Given the description of an element on the screen output the (x, y) to click on. 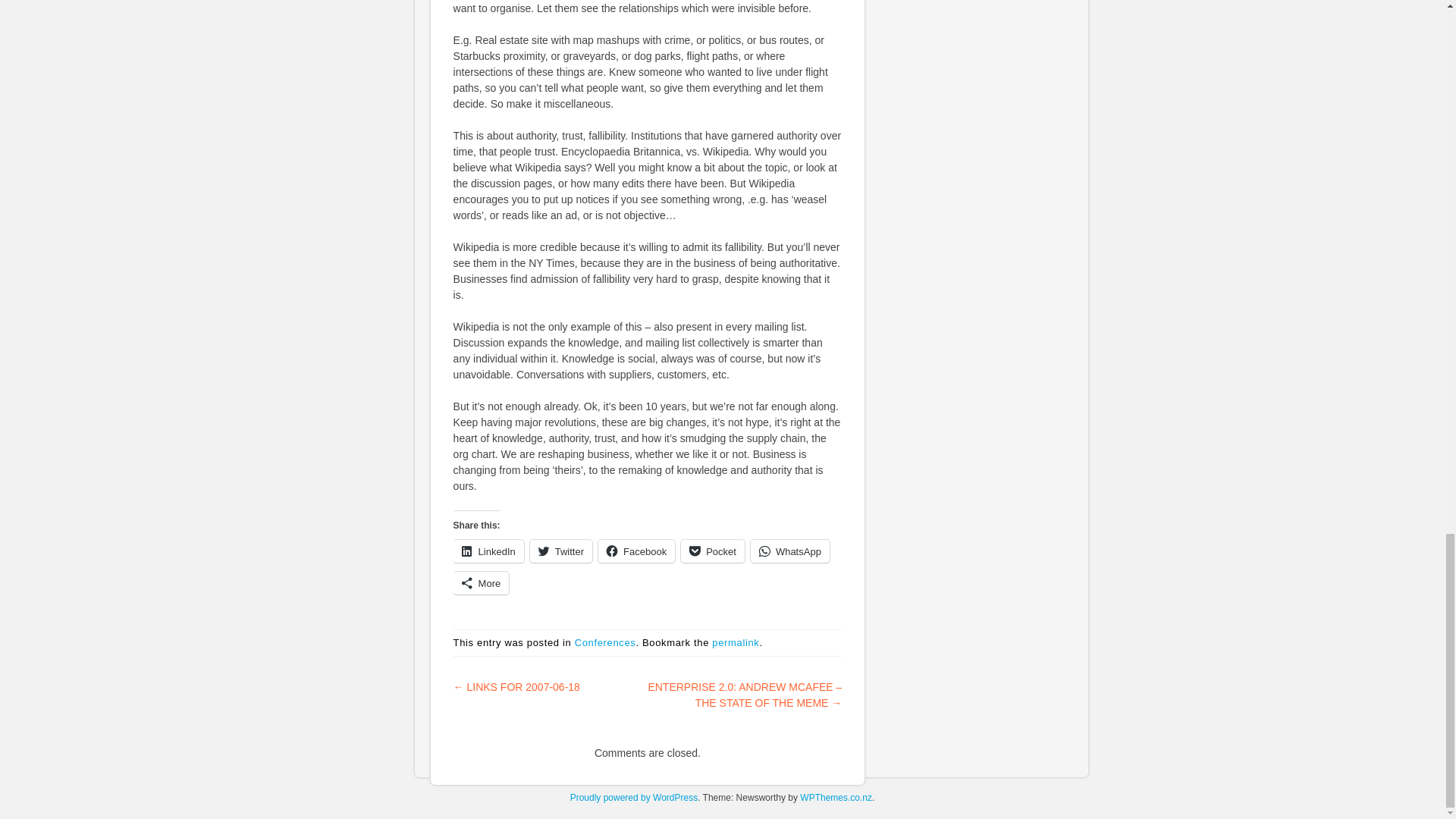
Conferences (605, 642)
Proudly powered by WordPress (634, 797)
Click to share on Pocket (712, 550)
Click to share on Facebook (636, 550)
Click to share on Twitter (560, 550)
Click to share on LinkedIn (488, 550)
LinkedIn (488, 550)
Twitter (560, 550)
WPThemes.co.nz (835, 797)
More (480, 582)
Click to share on WhatsApp (790, 550)
Facebook (636, 550)
WhatsApp (790, 550)
permalink (734, 642)
Pocket (712, 550)
